Given the description of an element on the screen output the (x, y) to click on. 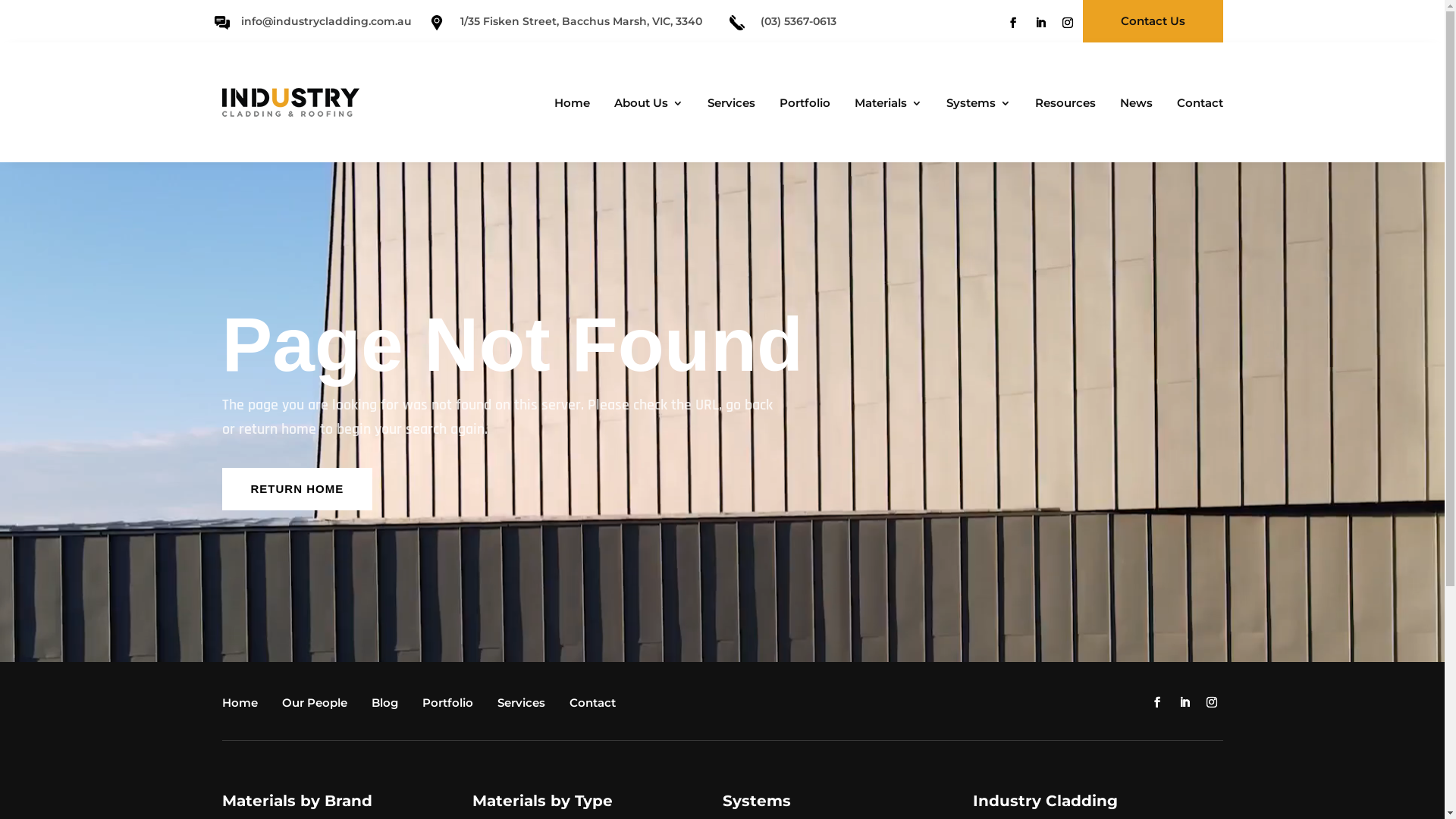
News Element type: text (1131, 105)
Follow on LinkedIn Element type: hover (1184, 701)
Follow on Instagram Element type: hover (1211, 701)
Materials Element type: text (883, 105)
RETURN HOME Element type: text (296, 488)
Services Element type: text (524, 705)
Services Element type: text (726, 105)
Contact Element type: text (1196, 105)
About Us Element type: text (644, 105)
Our People Element type: text (318, 705)
Follow on Instagram Element type: hover (1067, 22)
Home Element type: text (242, 705)
Systems Element type: text (974, 105)
Follow on LinkedIn Element type: hover (1040, 22)
Resources Element type: text (1060, 105)
Portfolio Element type: text (800, 105)
Follow on Facebook Element type: hover (1012, 22)
Logo-Home-Transparent-181 Element type: hover (289, 101)
Portfolio Element type: text (450, 705)
Contact Us Element type: text (1152, 21)
Follow on Facebook Element type: hover (1156, 701)
Contact Element type: text (595, 705)
Blog Element type: text (388, 705)
Home Element type: text (567, 105)
